Given the description of an element on the screen output the (x, y) to click on. 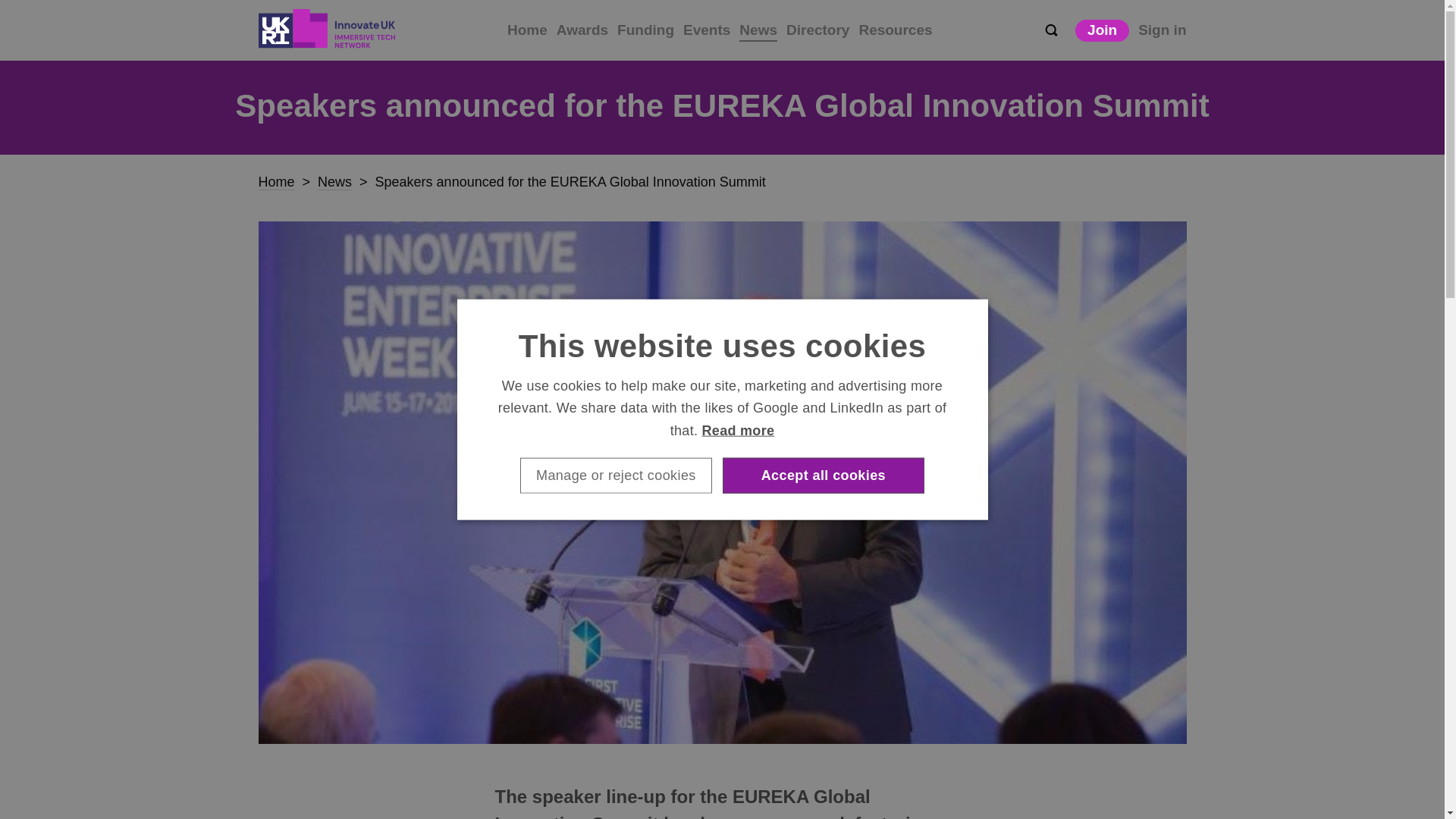
Sign in (1162, 31)
News (758, 31)
Join (1102, 30)
Home (526, 31)
News (334, 182)
Events (706, 31)
Home (275, 182)
Directory (817, 31)
Awards (582, 31)
Funding (645, 31)
